Given the description of an element on the screen output the (x, y) to click on. 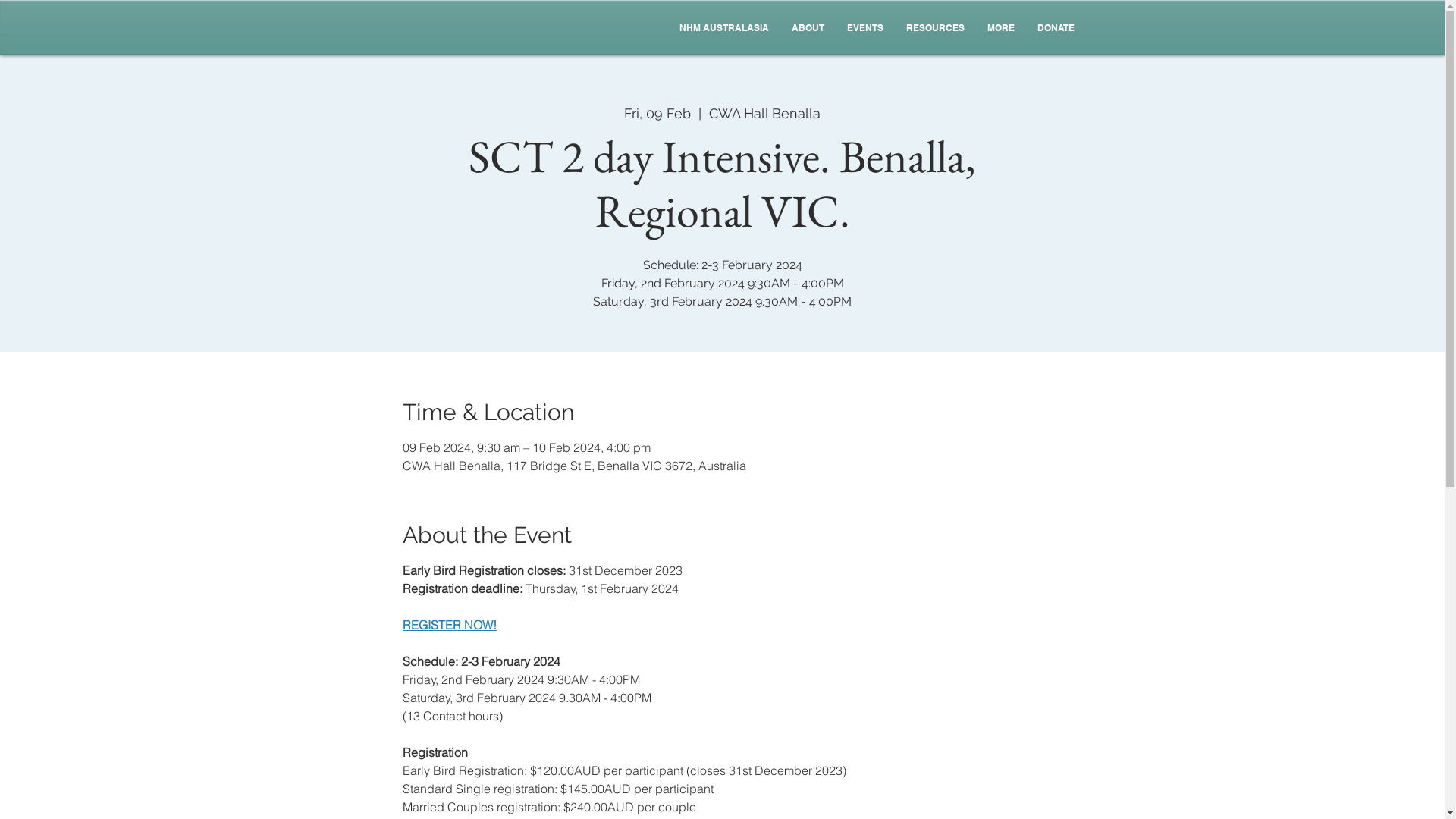
NHM AUSTRALASIA Element type: text (723, 28)
DONATE Element type: text (1055, 28)
REGISTER NOW! Element type: text (449, 624)
ABOUT Element type: text (806, 28)
